Given the description of an element on the screen output the (x, y) to click on. 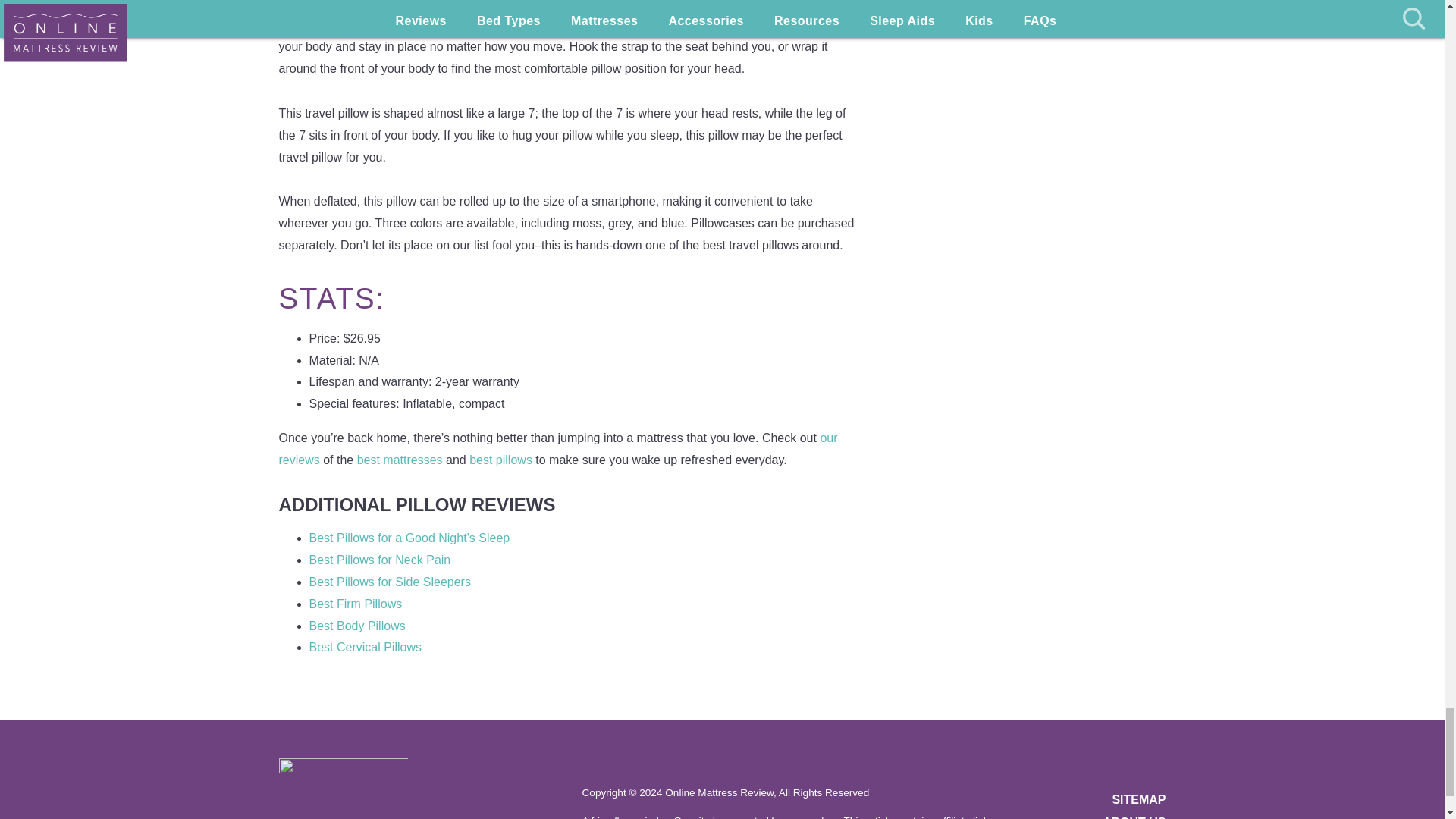
Best Pillows for Side Sleepers (389, 581)
Best Body Pillows (357, 625)
our reviews (558, 448)
Best Firm Pillows (355, 603)
Best Cervical Pillows (365, 646)
best mattresses (400, 459)
best pillows (500, 459)
Best Pillows for Neck Pain (379, 559)
